Given the description of an element on the screen output the (x, y) to click on. 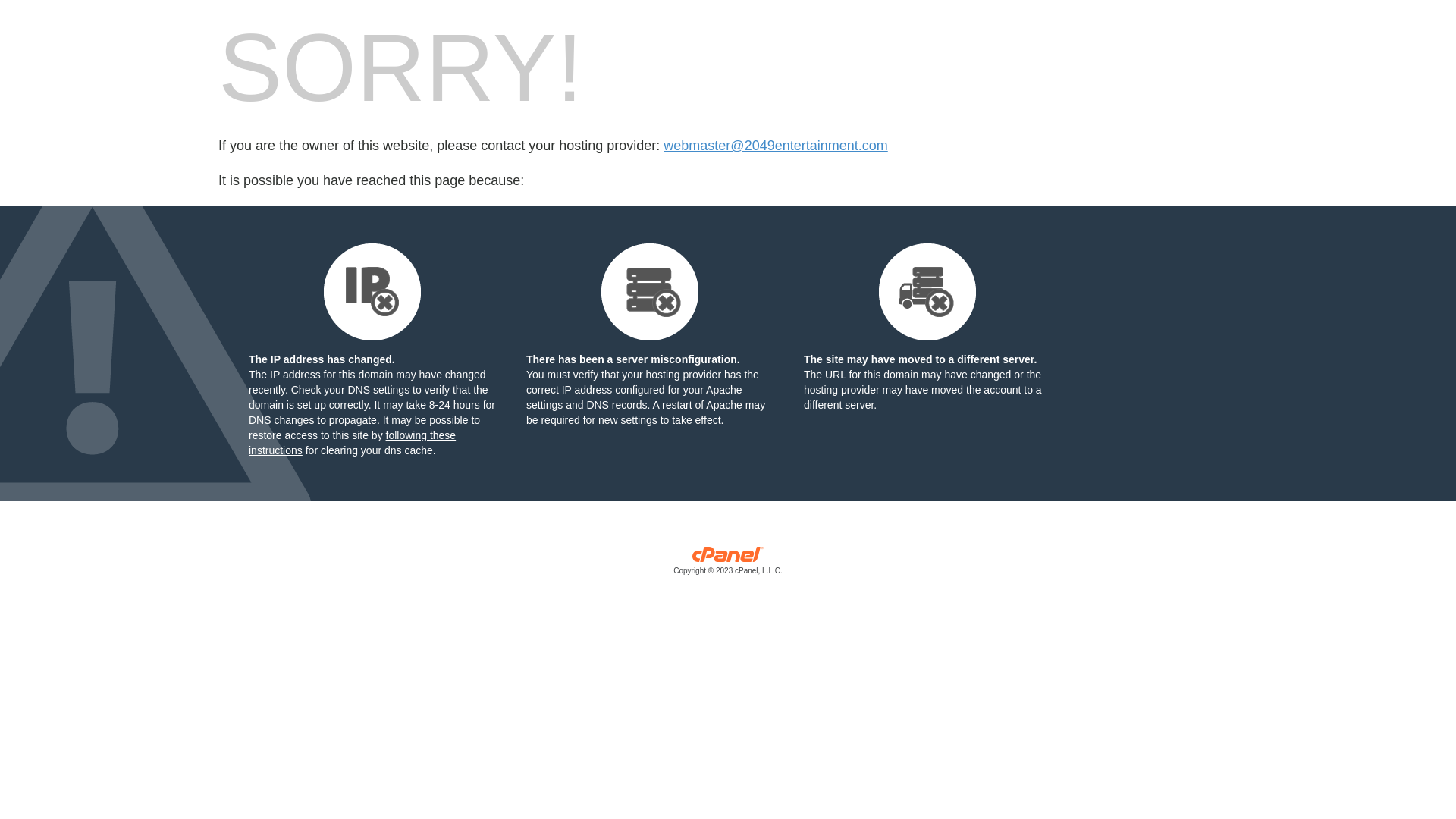
following these instructions Element type: text (351, 442)
webmaster@2049entertainment.com Element type: text (775, 145)
